Given the description of an element on the screen output the (x, y) to click on. 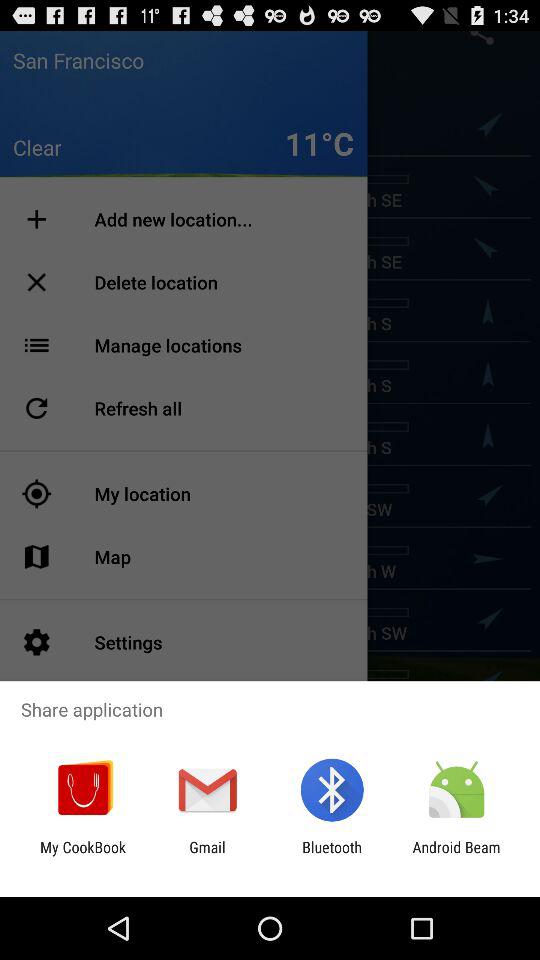
swipe to the android beam item (456, 856)
